Given the description of an element on the screen output the (x, y) to click on. 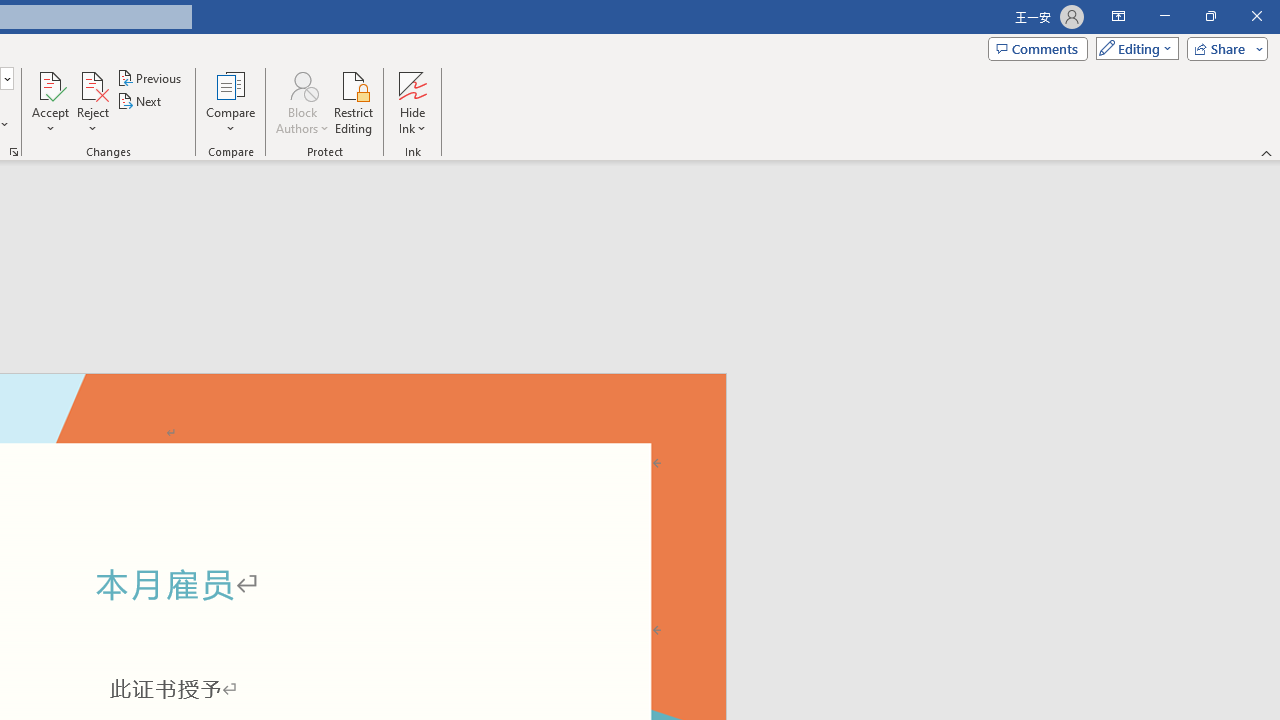
Previous (150, 78)
Reject and Move to Next (92, 84)
Accept and Move to Next (50, 84)
Restrict Editing (353, 102)
